Given the description of an element on the screen output the (x, y) to click on. 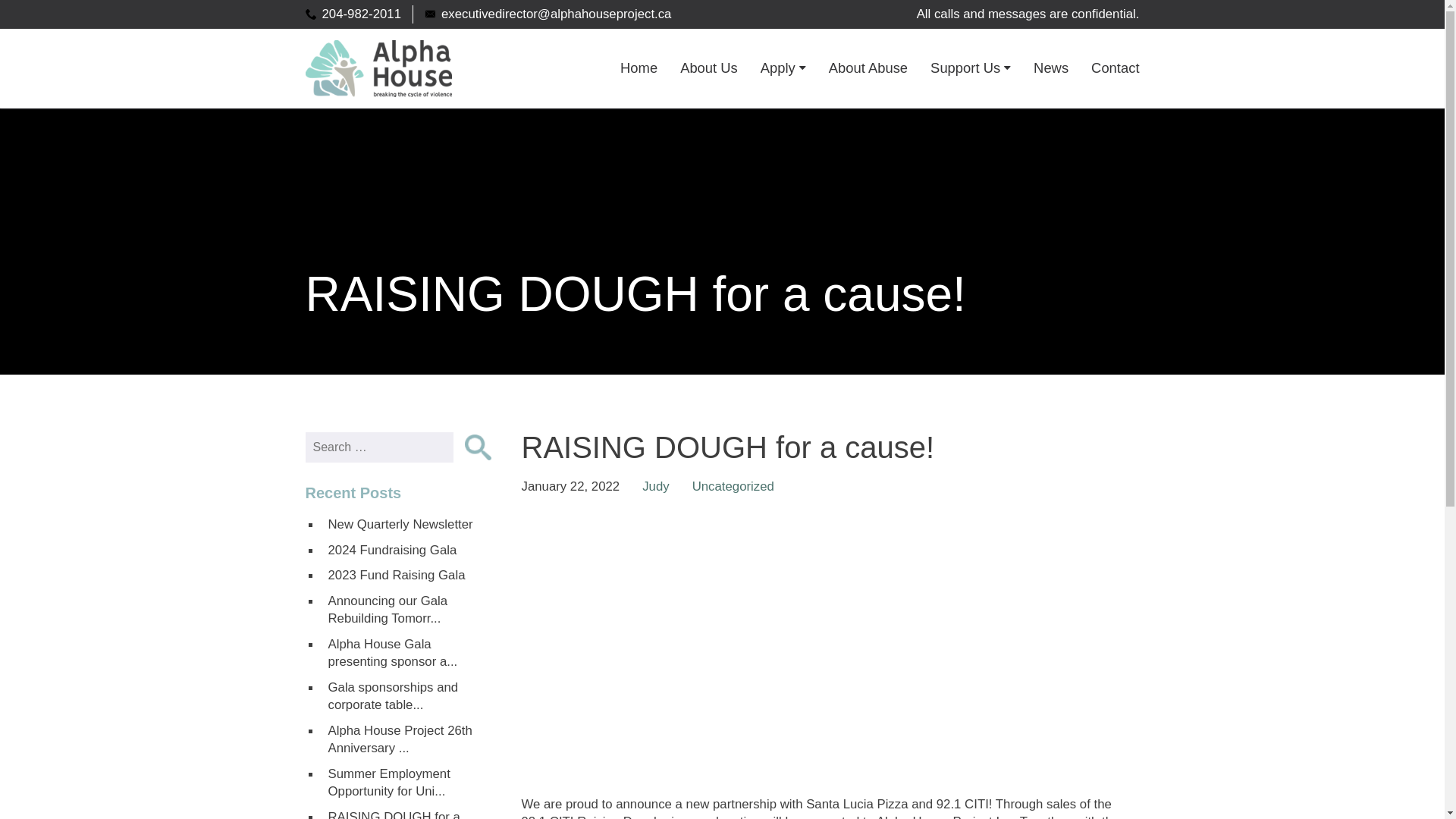
Apply (782, 67)
Alpha House Project 26th Anniversary ... (405, 739)
News (1051, 67)
About Abuse (867, 67)
About Us (708, 67)
2024 Fundraising Gala (405, 550)
Contact (1115, 67)
Gala sponsorships and corporate table... (405, 696)
2023 Fund Raising Gala (405, 575)
RAISING DOUGH for a cause! (405, 811)
